Given the description of an element on the screen output the (x, y) to click on. 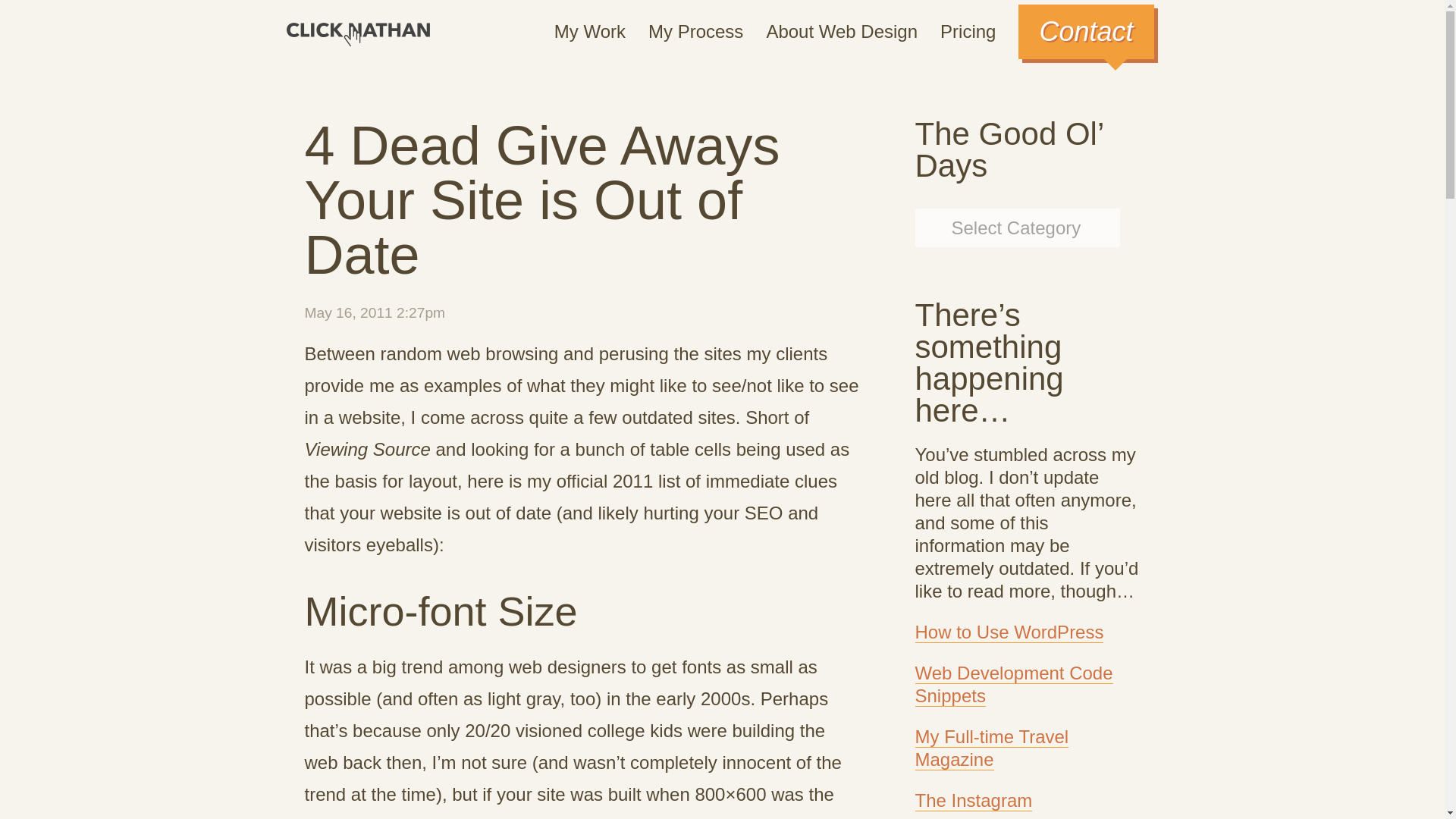
Web Development Code Snippets (1013, 684)
My Work (590, 31)
My Full-time Travel Magazine (991, 748)
My Process (694, 31)
The Instagram (973, 800)
Contact (1085, 31)
About Web Design (841, 31)
Pricing (967, 31)
How to Use WordPress (1008, 631)
